Given the description of an element on the screen output the (x, y) to click on. 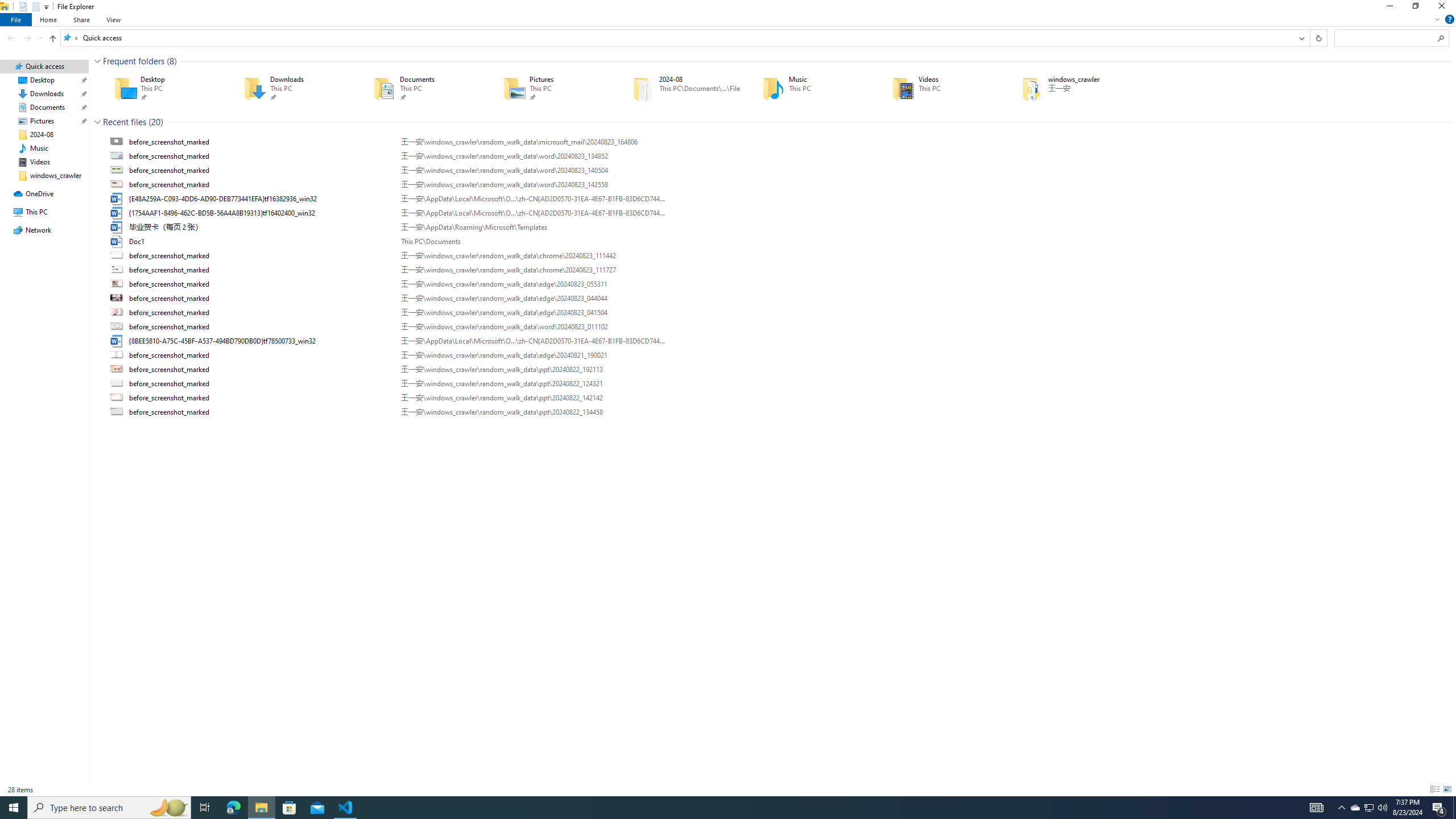
Count (155, 121)
Pictures (551, 88)
Recent locations (40, 37)
Search Box (1386, 37)
View (113, 19)
windows_crawler (1070, 88)
Back (Alt + Left Arrow) (10, 37)
Search (1441, 37)
Documents (422, 88)
Details (1434, 789)
Forward (Alt + Right Arrow) (27, 37)
Home (48, 19)
Collapse Group (97, 121)
Name (261, 411)
